Given the description of an element on the screen output the (x, y) to click on. 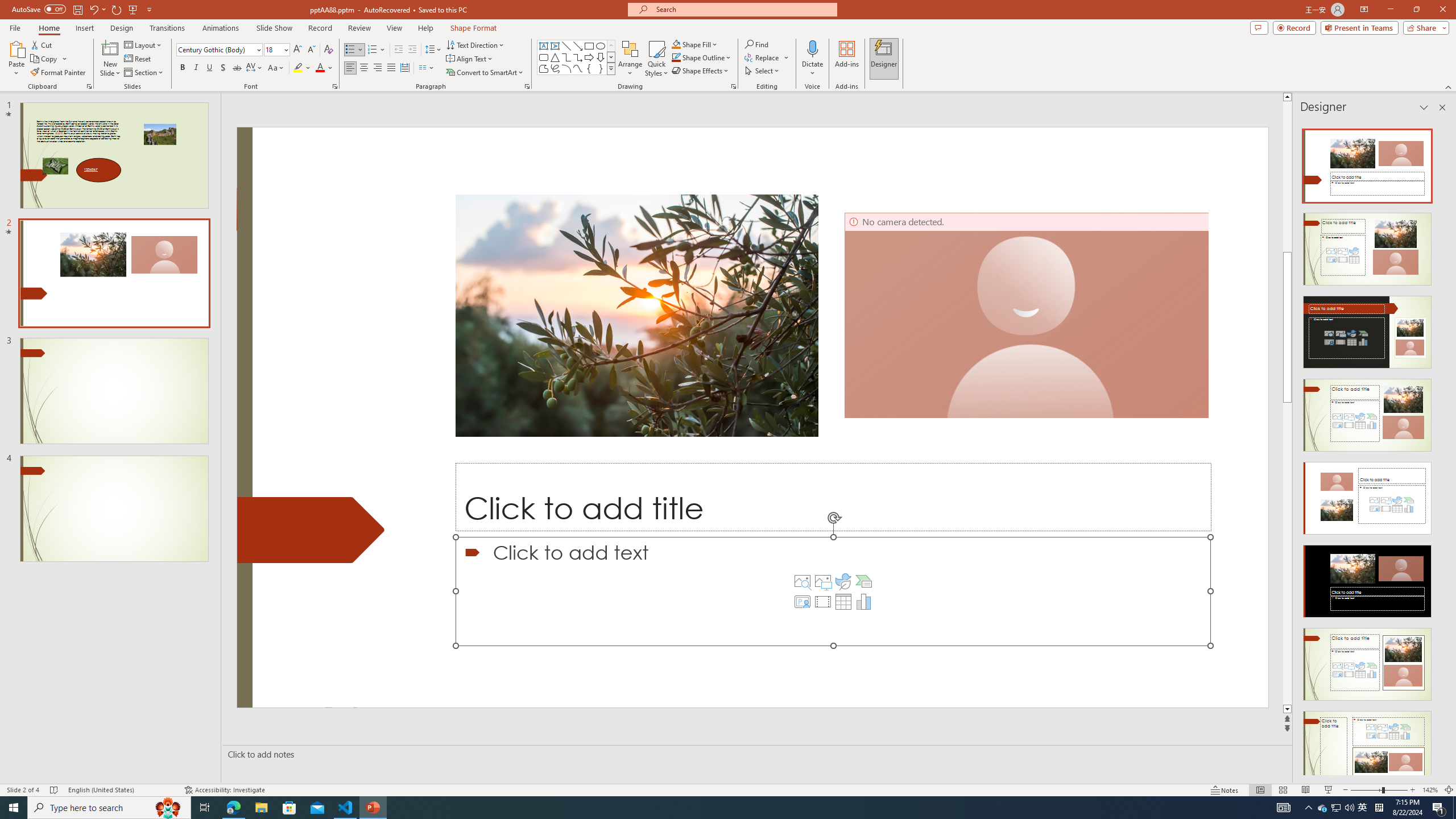
Text Highlight Color (302, 67)
New Slide (110, 48)
Page up (1450, 176)
Quick Styles (656, 58)
Arrow: Right (589, 57)
Insert Video (822, 601)
Font (215, 49)
Layout (143, 44)
Shape Outline (701, 56)
Freeform: Shape (543, 68)
Increase Indent (412, 49)
